Given the description of an element on the screen output the (x, y) to click on. 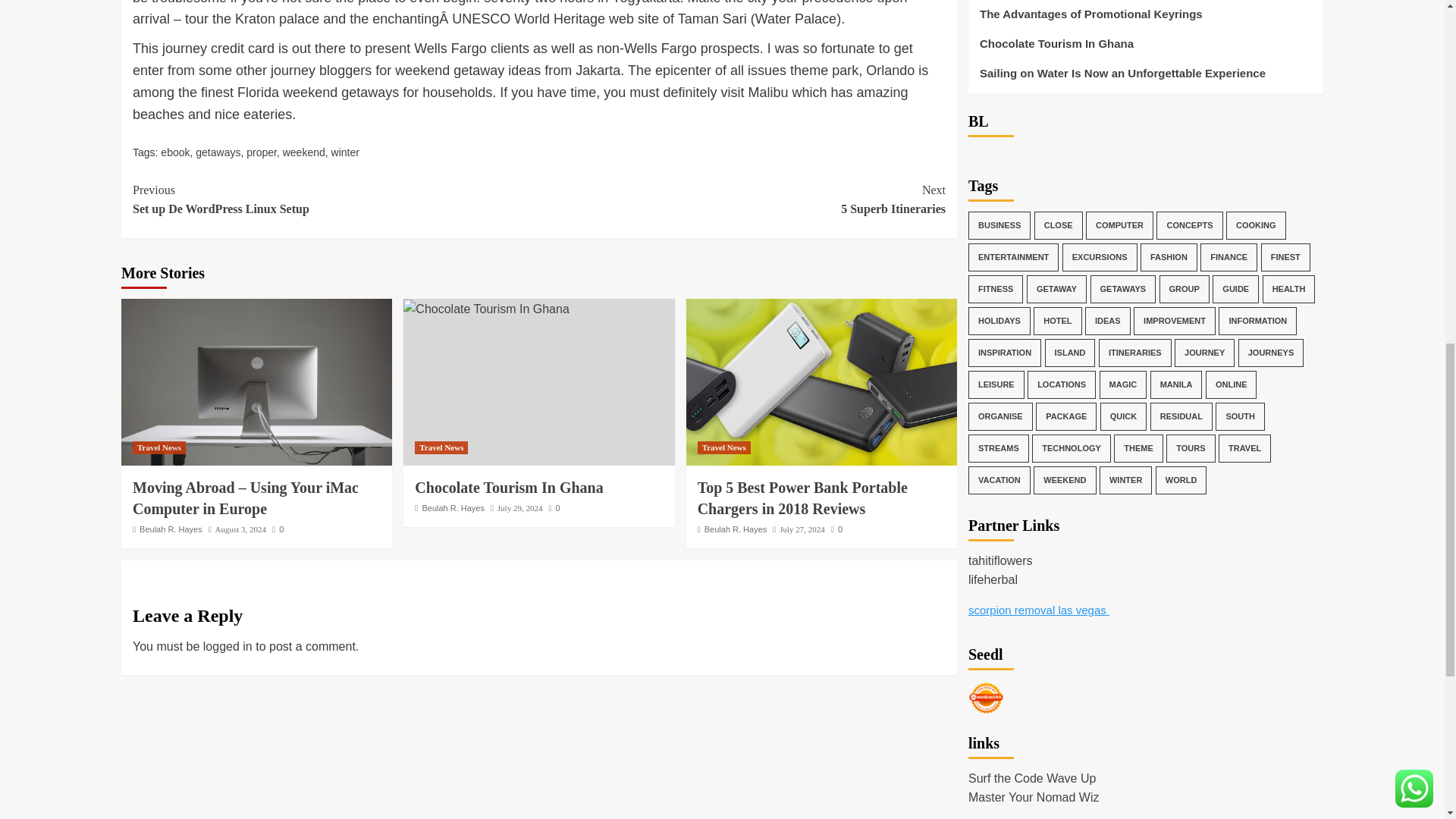
proper (261, 152)
Travel News (335, 199)
ebook (440, 447)
Beulah R. Hayes (174, 152)
Beulah R. Hayes (170, 528)
0 (453, 507)
Travel News (277, 528)
Top 5 Best Power Bank Portable Chargers in 2018 Reviews (159, 447)
getaways (820, 382)
weekend (217, 152)
winter (303, 152)
August 3, 2024 (345, 152)
Seedbacklink (741, 199)
